Given the description of an element on the screen output the (x, y) to click on. 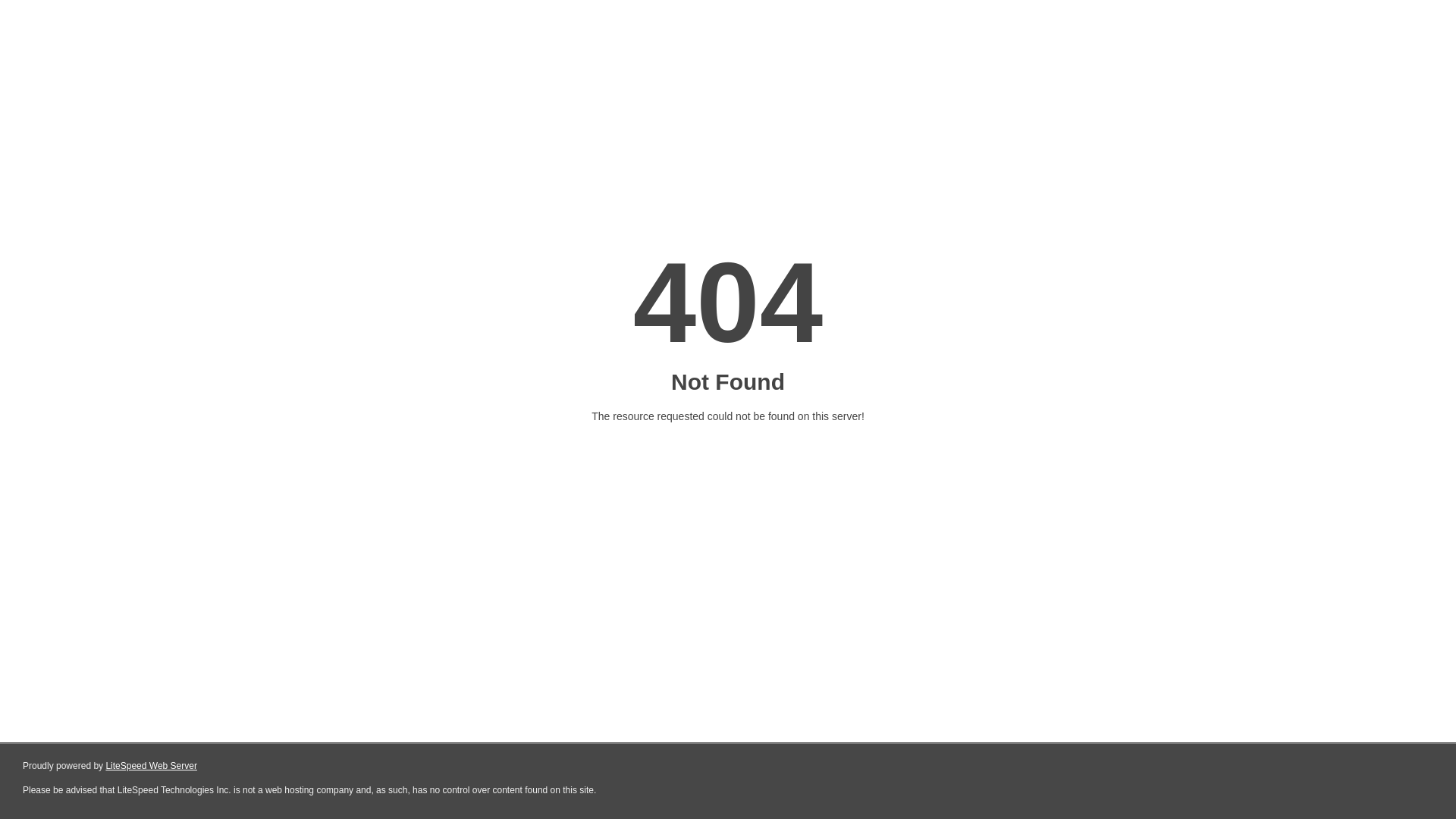
LiteSpeed Web Server (150, 765)
